Given the description of an element on the screen output the (x, y) to click on. 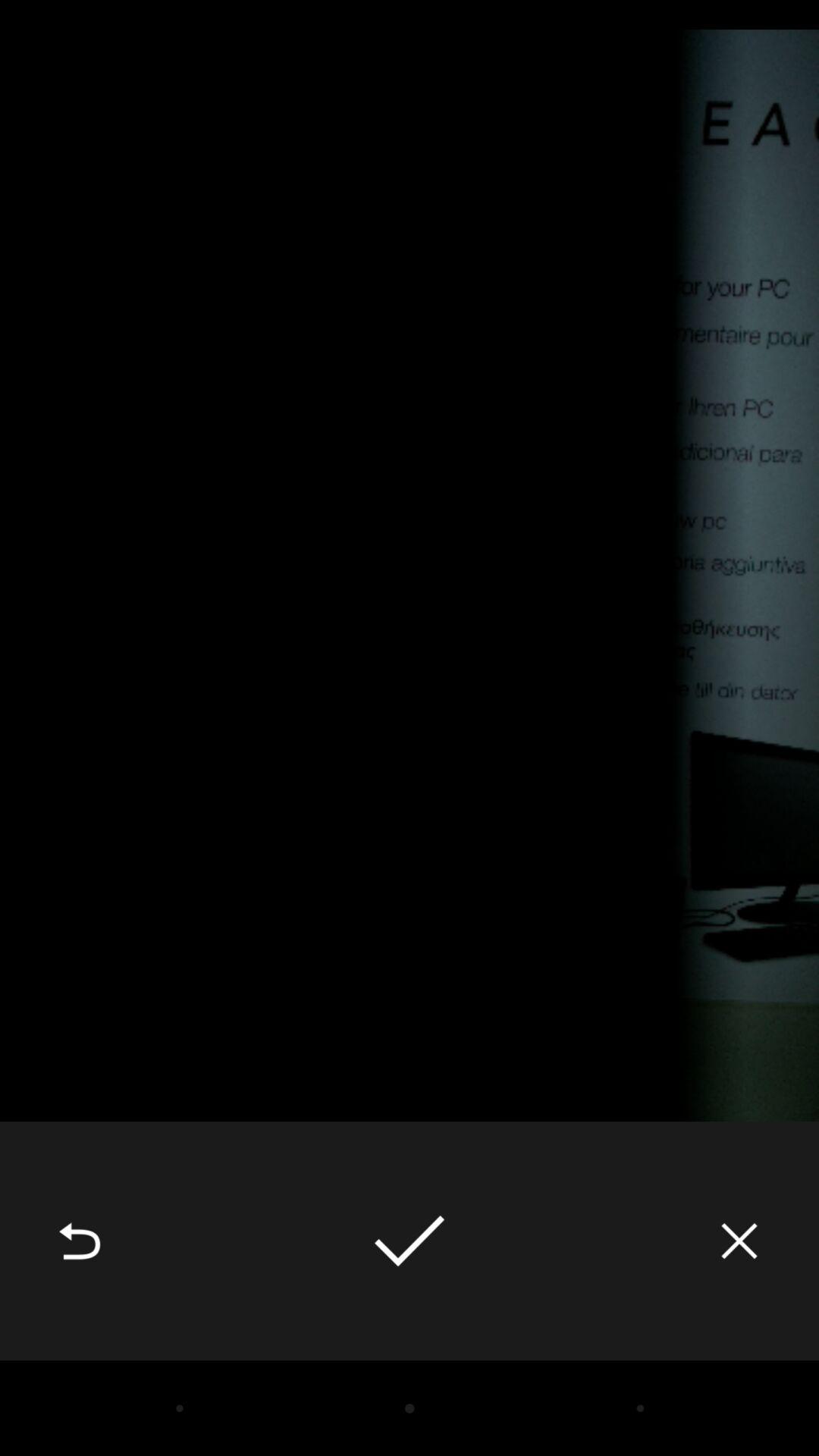
launch item at the bottom right corner (739, 1240)
